Given the description of an element on the screen output the (x, y) to click on. 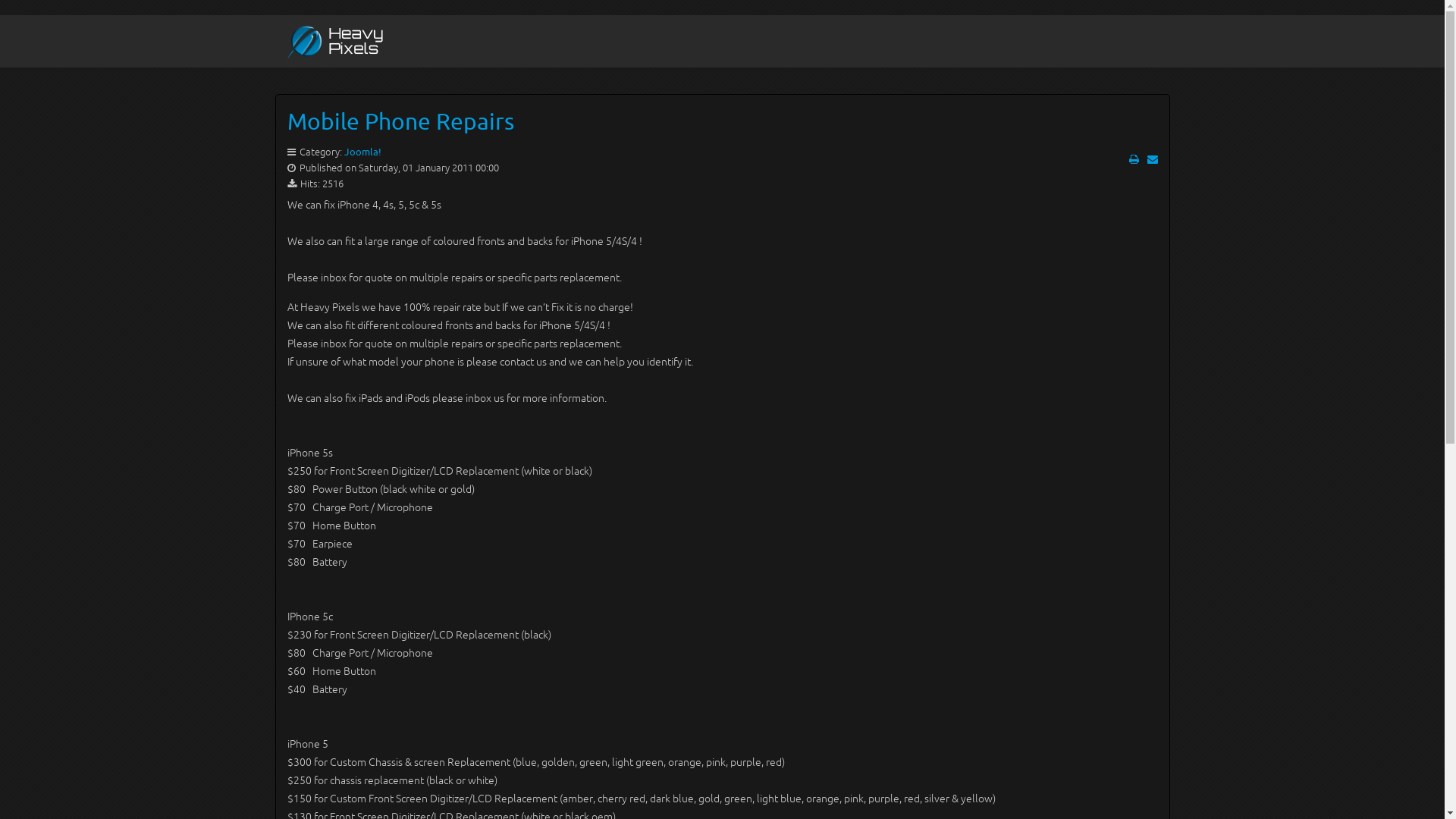
Mobile Phone Repairs Element type: text (399, 121)
Joomla! Element type: text (362, 151)
Print Element type: hover (1133, 158)
Email Element type: hover (1151, 158)
